Given the description of an element on the screen output the (x, y) to click on. 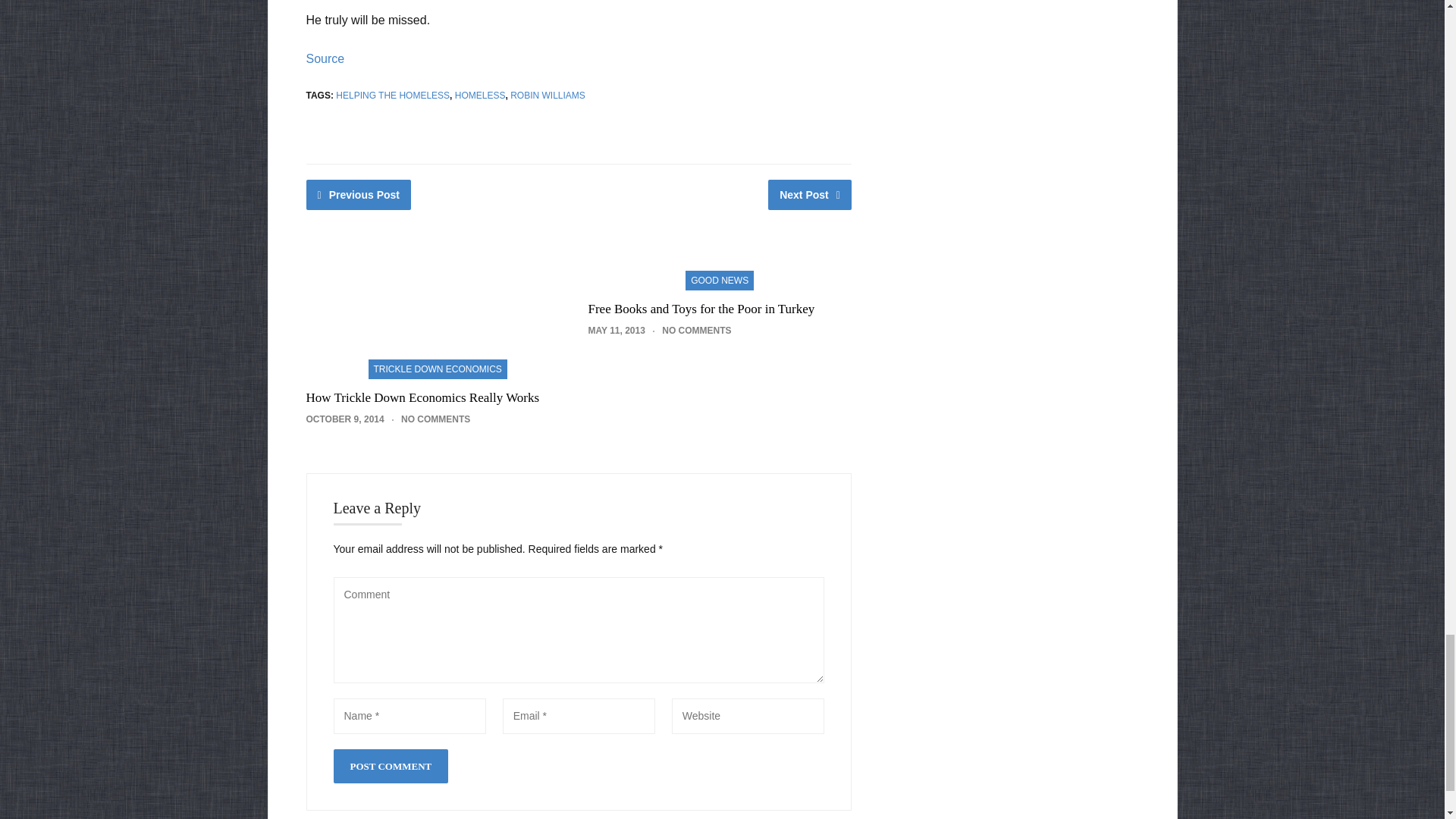
HELPING THE HOMELESS (392, 95)
Previous Post (358, 194)
Post Comment (390, 765)
GOOD NEWS (719, 278)
ROBIN WILLIAMS (548, 95)
Post Comment (390, 765)
Free Books and Toys for the Poor in Turkey (700, 309)
NO COMMENTS (696, 330)
NO COMMENTS (435, 419)
Source (325, 58)
HOMELESS (479, 95)
Next Post (809, 194)
How Trickle Down Economics Really Works (422, 397)
TRICKLE DOWN ECONOMICS (438, 367)
